Given the description of an element on the screen output the (x, y) to click on. 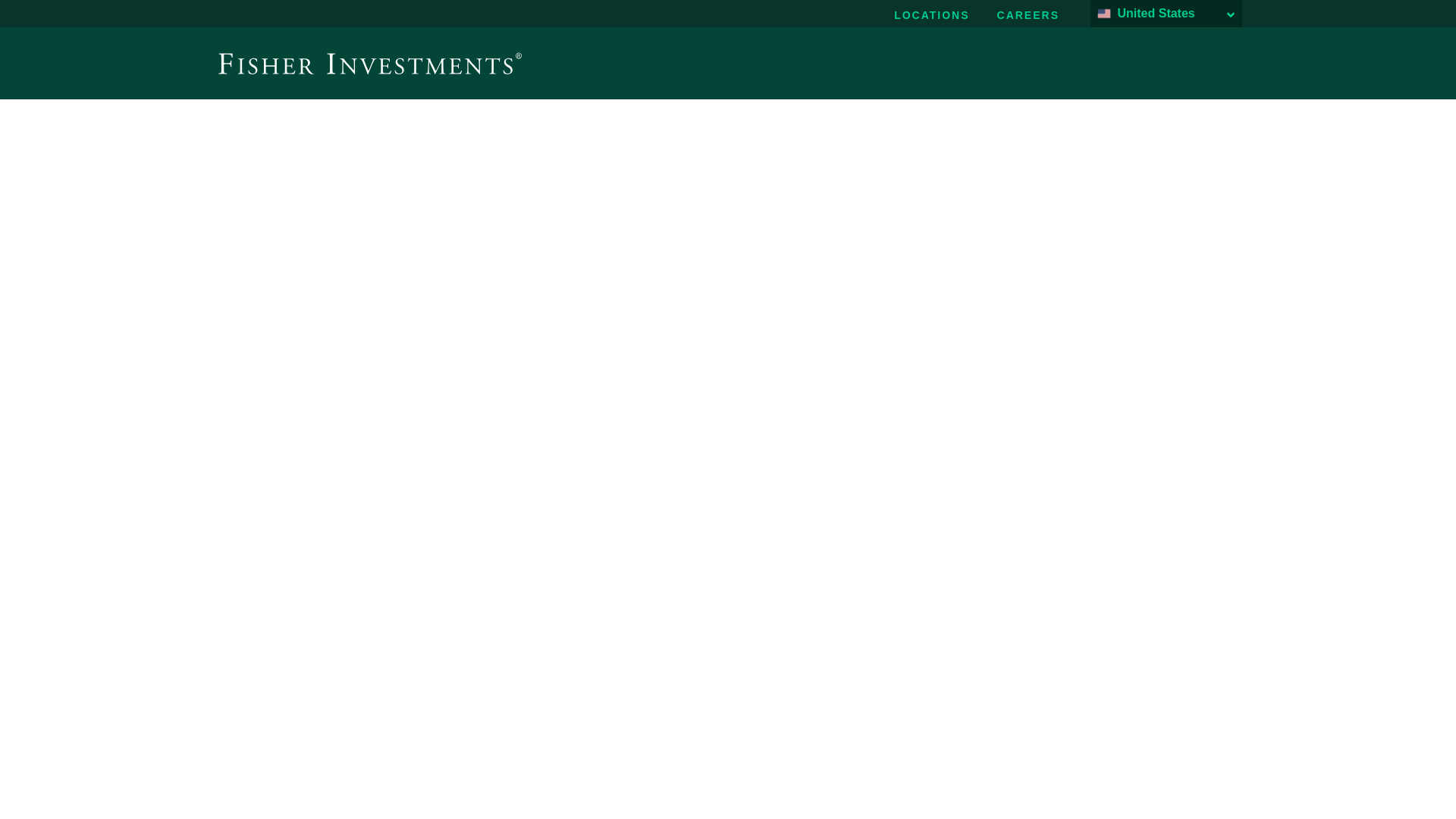
CAREERS (1027, 14)
LOCATIONS (931, 14)
United States (1166, 13)
To Home Page (369, 62)
